Given the description of an element on the screen output the (x, y) to click on. 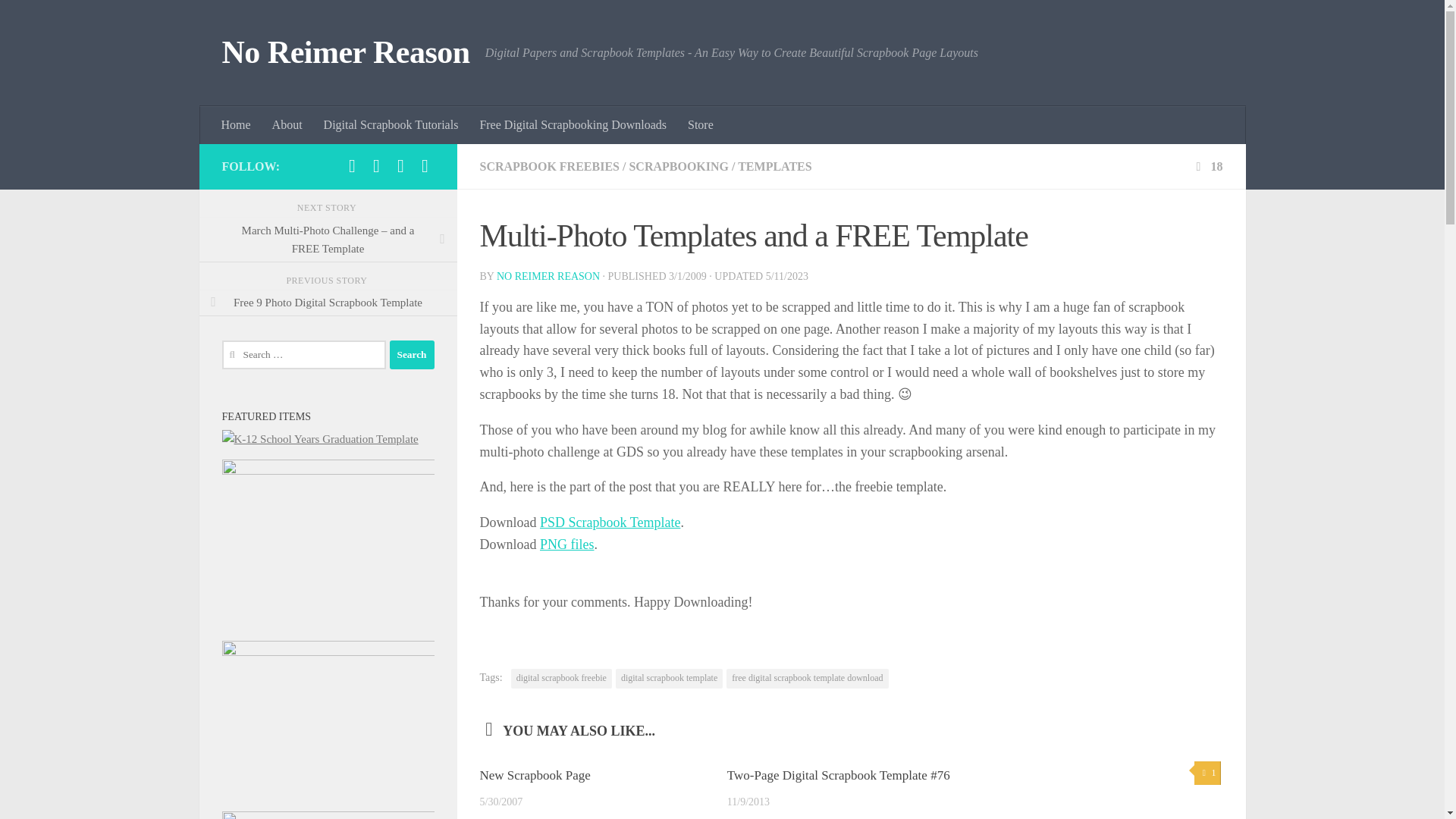
About (287, 125)
1 (1207, 772)
Follow us on Instagram (423, 166)
New Scrapbook Page (534, 775)
Free Digital Scrapbooking Downloads (572, 125)
Follow us on Pinterest (400, 166)
SCRAPBOOK FREEBIES (548, 165)
TEMPLATES (775, 165)
Store (700, 125)
